Given the description of an element on the screen output the (x, y) to click on. 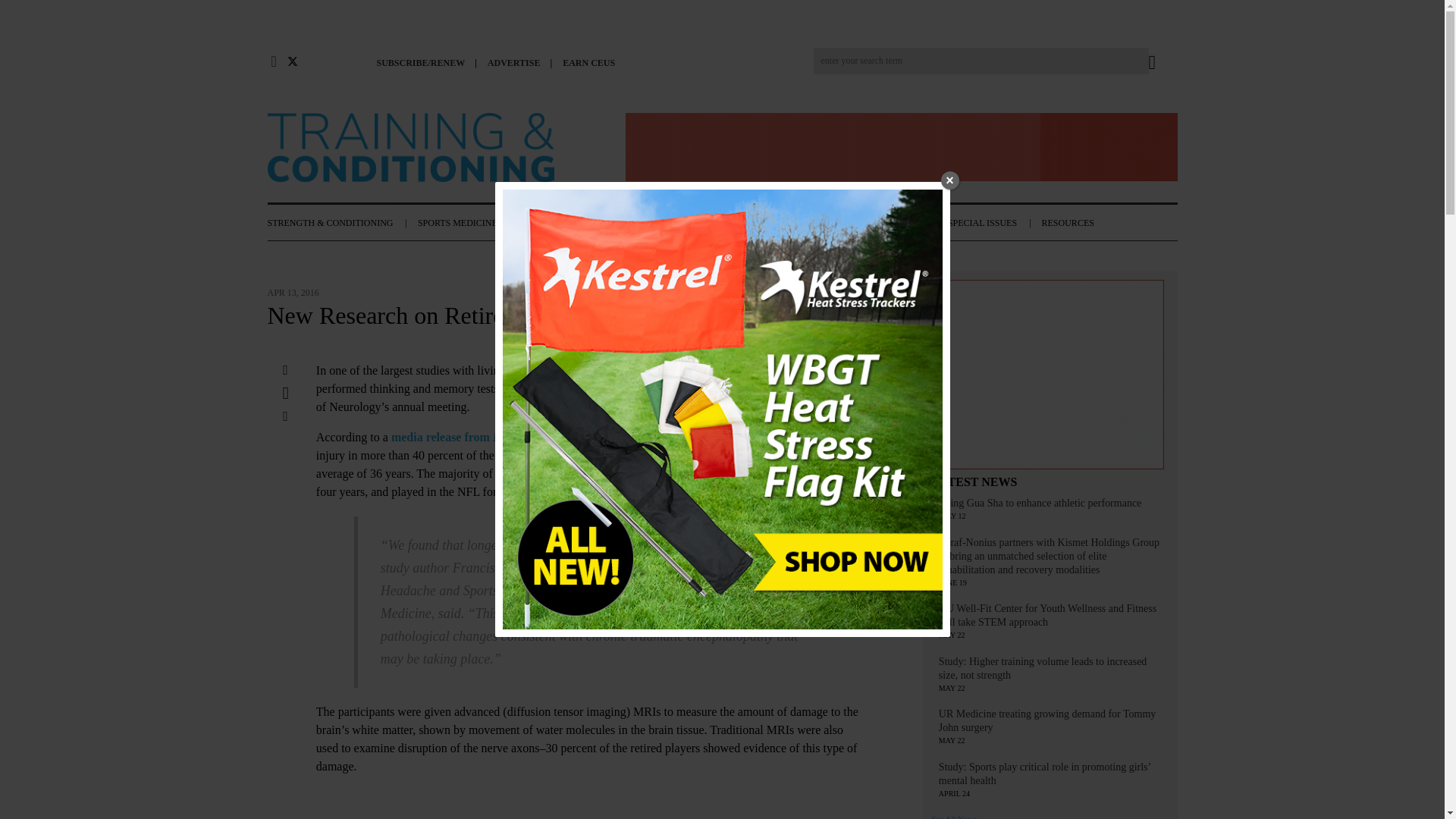
SPORTS MEDICINE (467, 222)
CONTINUING ED (825, 222)
TECHNOLOGY (637, 222)
NUTRITION (556, 222)
Toolkit (1049, 377)
MAGAZINE (909, 222)
Purchasing Guide (900, 149)
PLAYER SAFETY (728, 222)
ADVERTISE (519, 62)
RESOURCES (1075, 222)
EARN CEUS (592, 62)
SPECIAL ISSUES (993, 222)
